Given the description of an element on the screen output the (x, y) to click on. 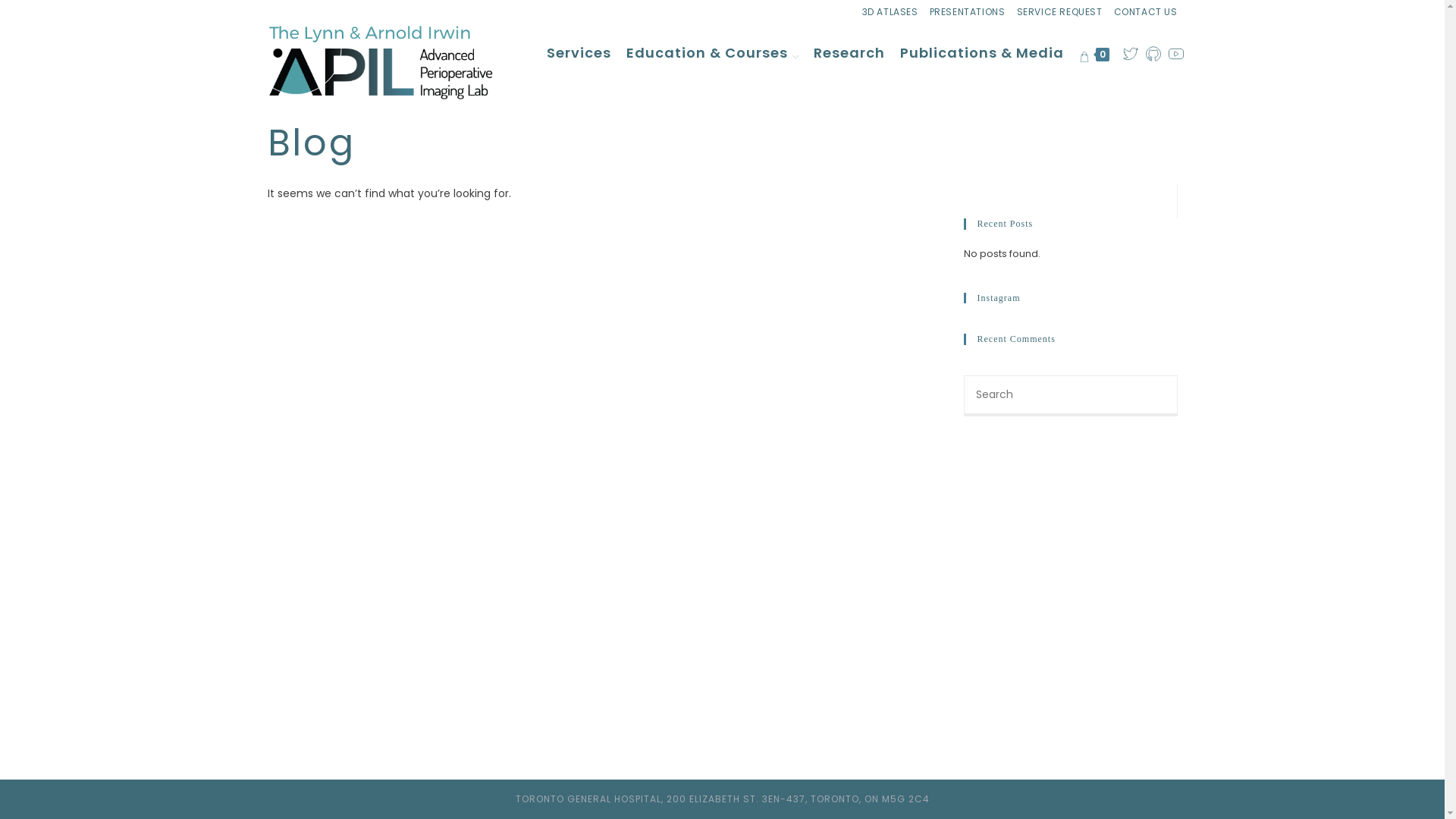
Publications & Media Element type: text (980, 53)
PRESENTATIONS Element type: text (967, 11)
SERVICE REQUEST Element type: text (1058, 11)
CONTACT US Element type: text (1144, 11)
Services Element type: text (578, 53)
Education & Courses Element type: text (712, 53)
3D ATLASES Element type: text (890, 11)
0 Element type: text (1093, 53)
Research Element type: text (848, 53)
